Given the description of an element on the screen output the (x, y) to click on. 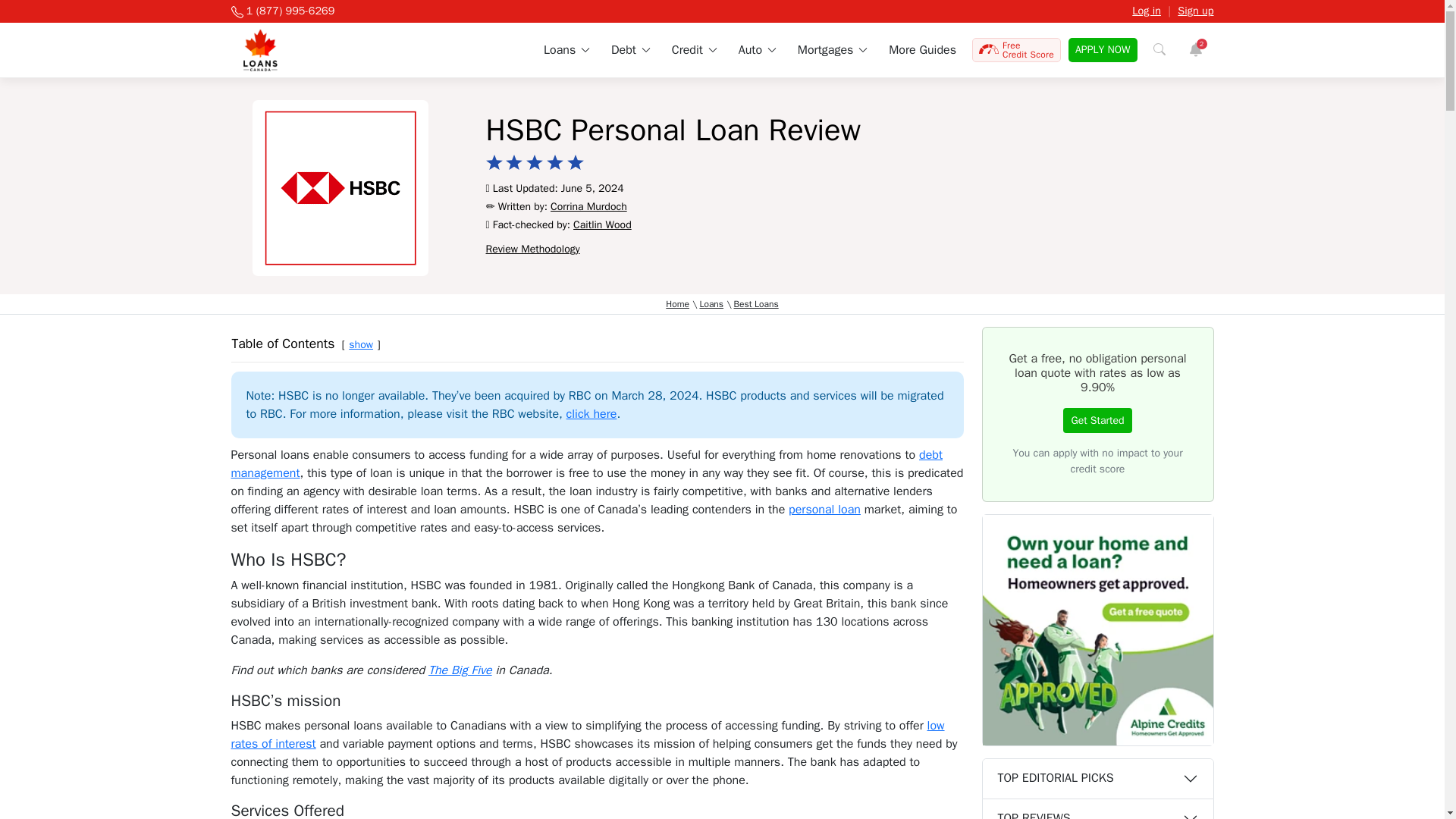
Loans in Canada (565, 49)
Log in (1146, 10)
Sign up (1194, 10)
Loans (565, 49)
Debt (630, 49)
